Given the description of an element on the screen output the (x, y) to click on. 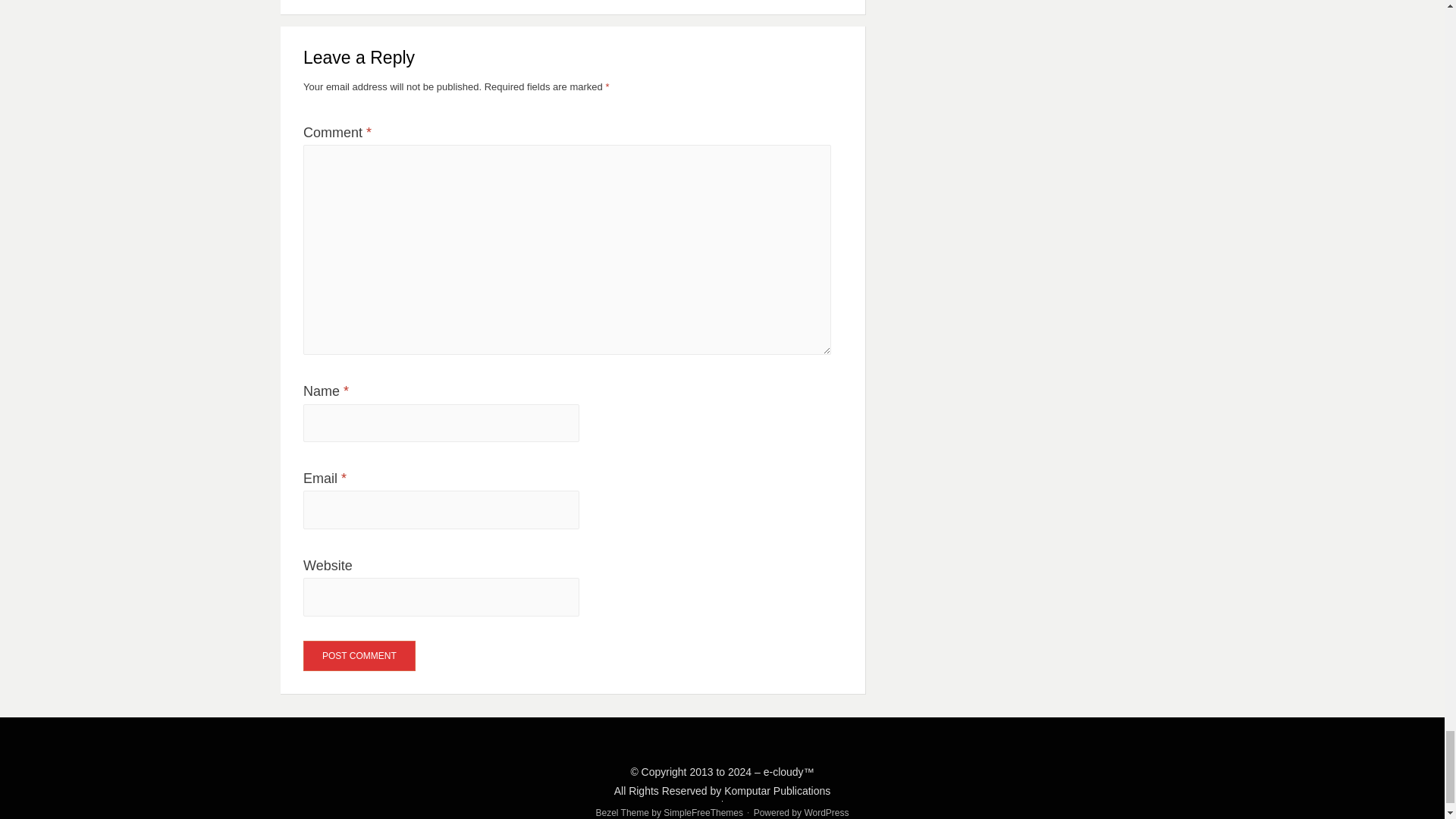
SimpleFreeThemes (702, 812)
Post Comment (358, 655)
WordPress (825, 812)
